Given the description of an element on the screen output the (x, y) to click on. 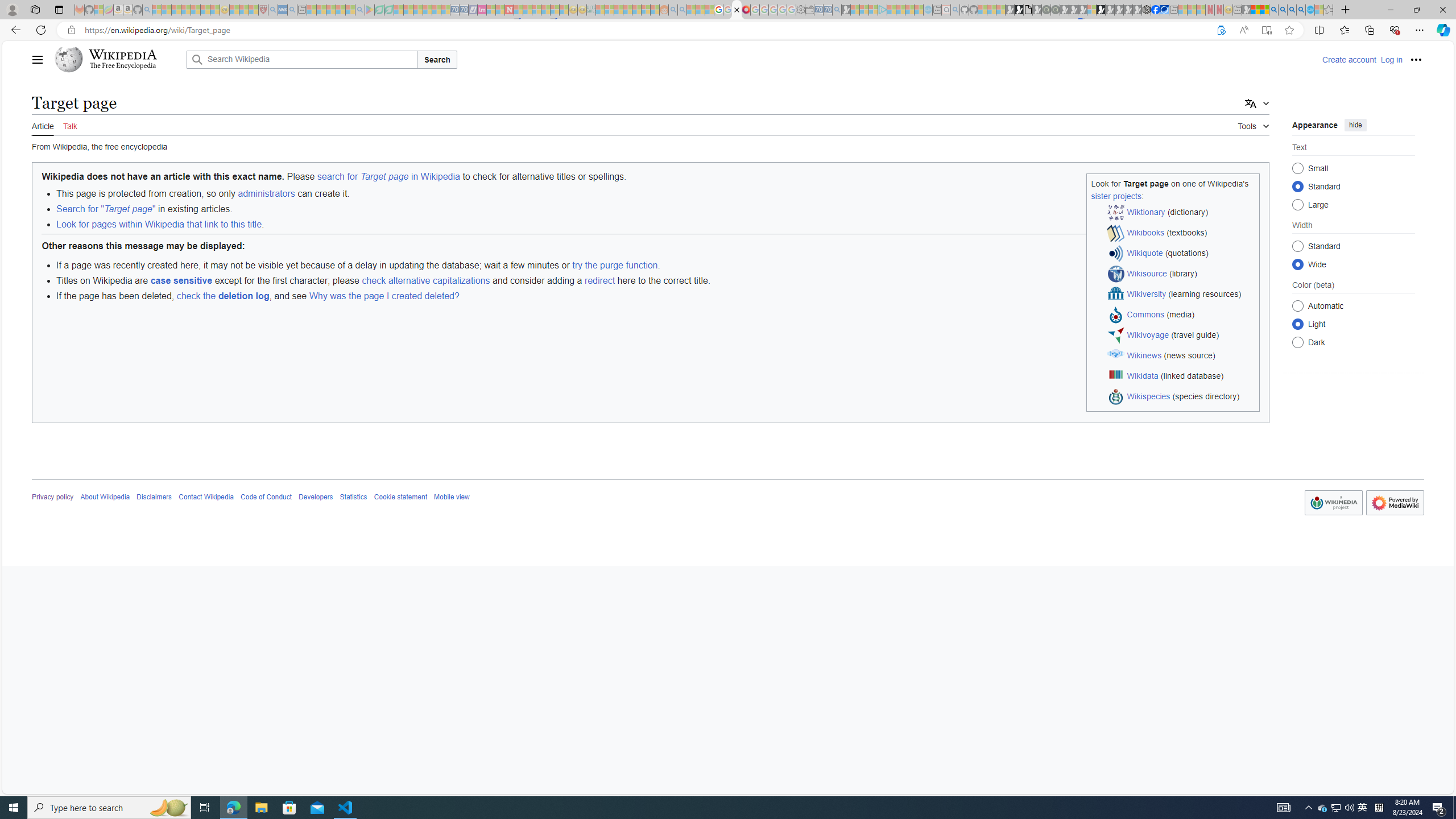
Tools (1253, 124)
search for Target page in Wikipedia (388, 176)
Support Wikipedia? (1220, 29)
Log in (1391, 58)
Wiktionary (dictionary) (1181, 212)
AirNow.gov (1163, 9)
Privacy policy (53, 496)
Article (42, 124)
check alternative capitalizations (425, 280)
